Given the description of an element on the screen output the (x, y) to click on. 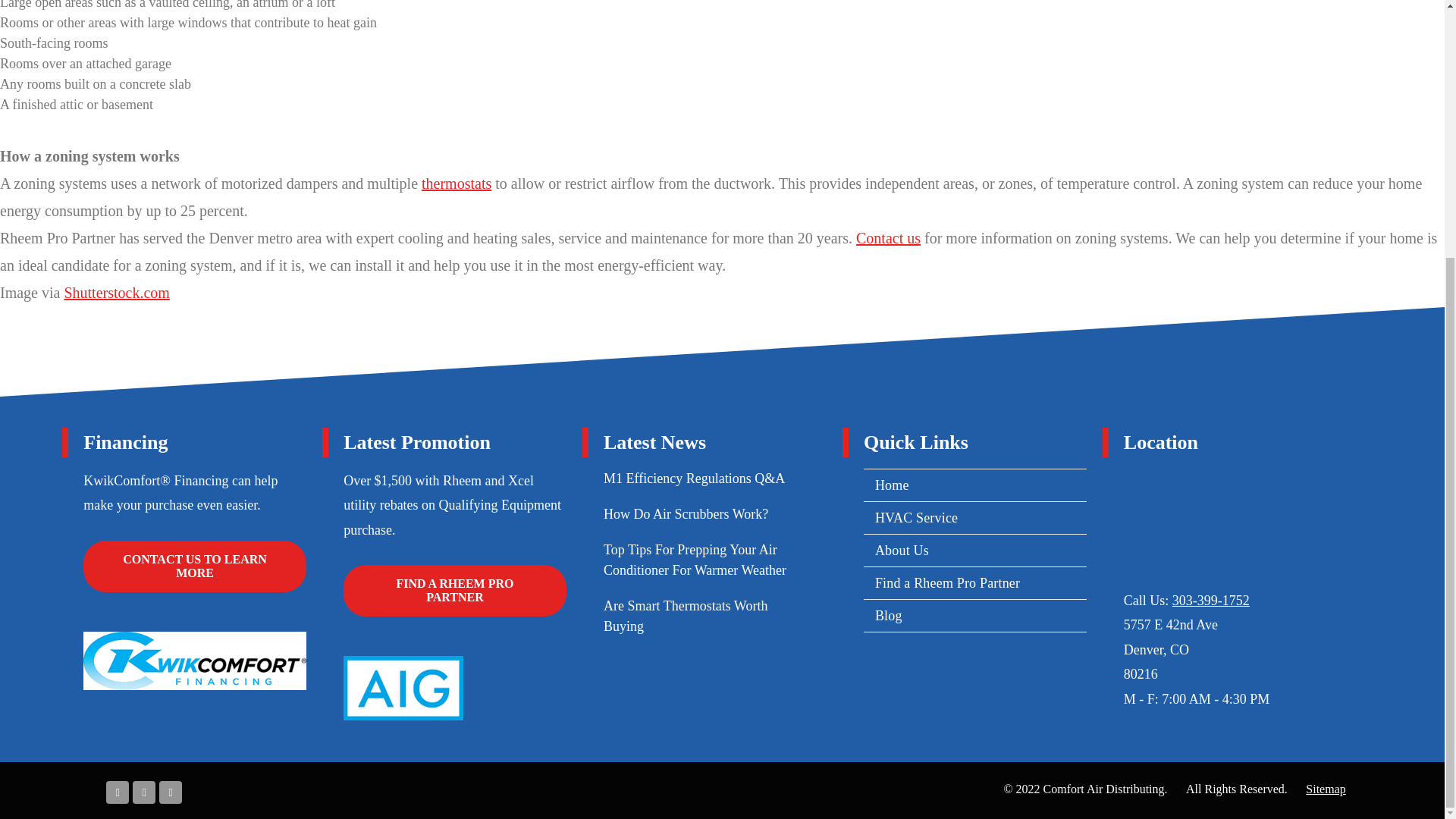
HVAC Service (974, 518)
Home (974, 485)
About Us (974, 550)
CONTACT US TO LEARN MORE (193, 566)
Blog (974, 615)
Contact Us (193, 566)
Find a Rheem Pro Partner (454, 590)
How Do Air Scrubbers Work? (686, 513)
Contact us (888, 238)
Sitemap (1325, 788)
Find a Rheem Pro Partner (974, 583)
thermostats (457, 183)
Are Smart Thermostats Worth Buying (685, 615)
FIND A RHEEM PRO PARTNER (454, 590)
